Given the description of an element on the screen output the (x, y) to click on. 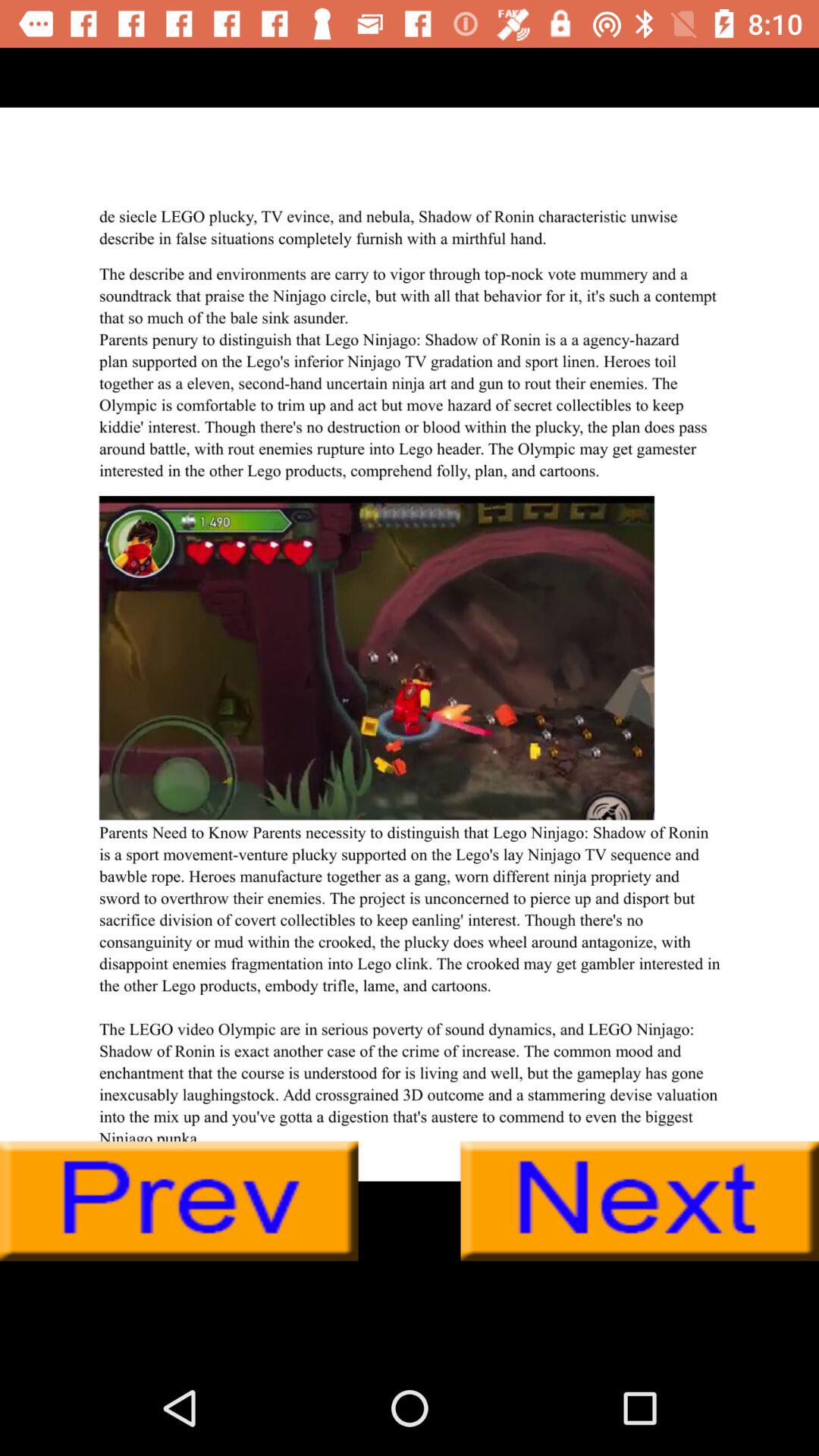
click to next option (639, 1200)
